Given the description of an element on the screen output the (x, y) to click on. 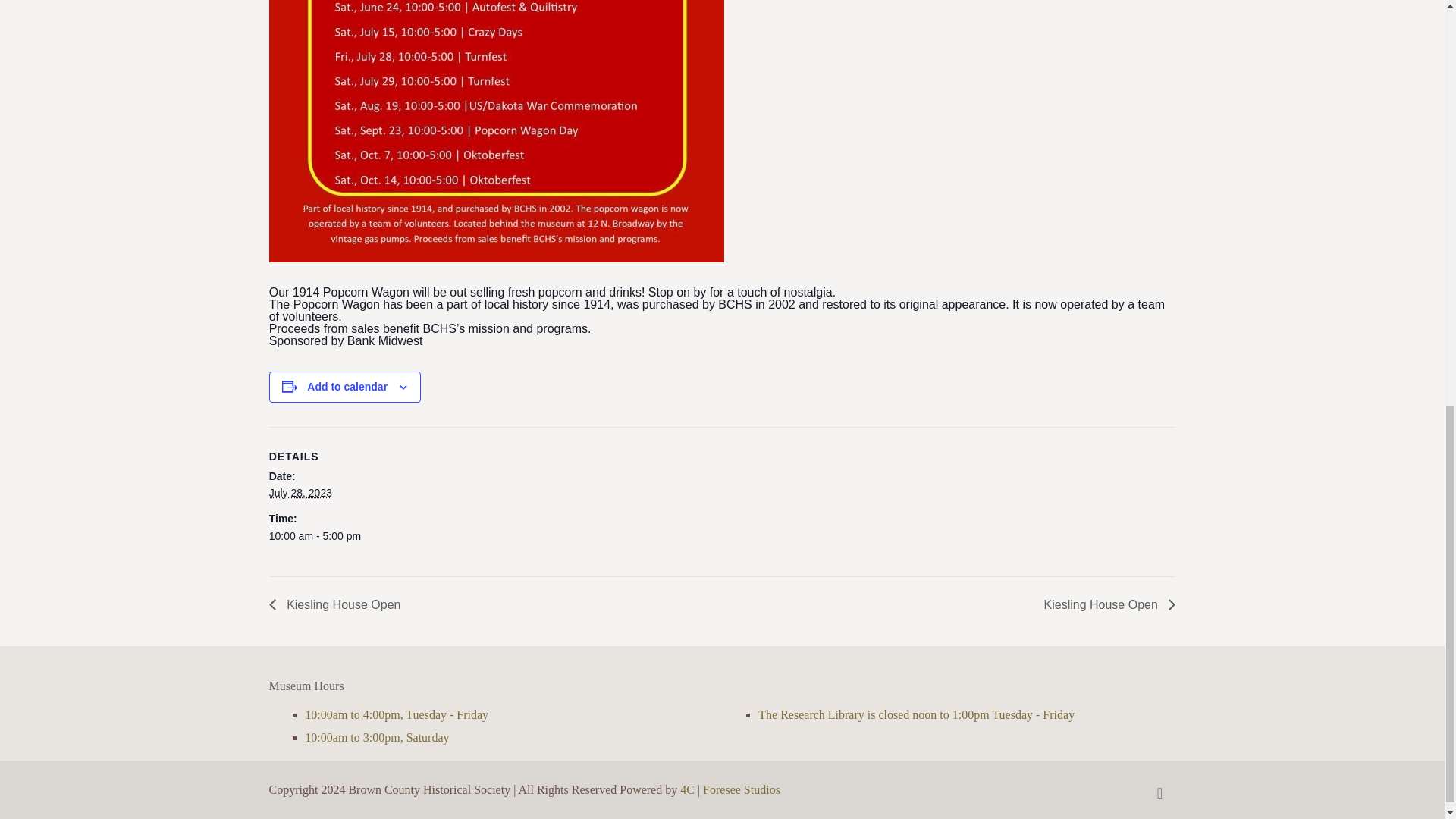
2023-07-28 (300, 492)
Kiesling House Open (339, 604)
2023-07-28 (713, 535)
Add to calendar (347, 386)
